Given the description of an element on the screen output the (x, y) to click on. 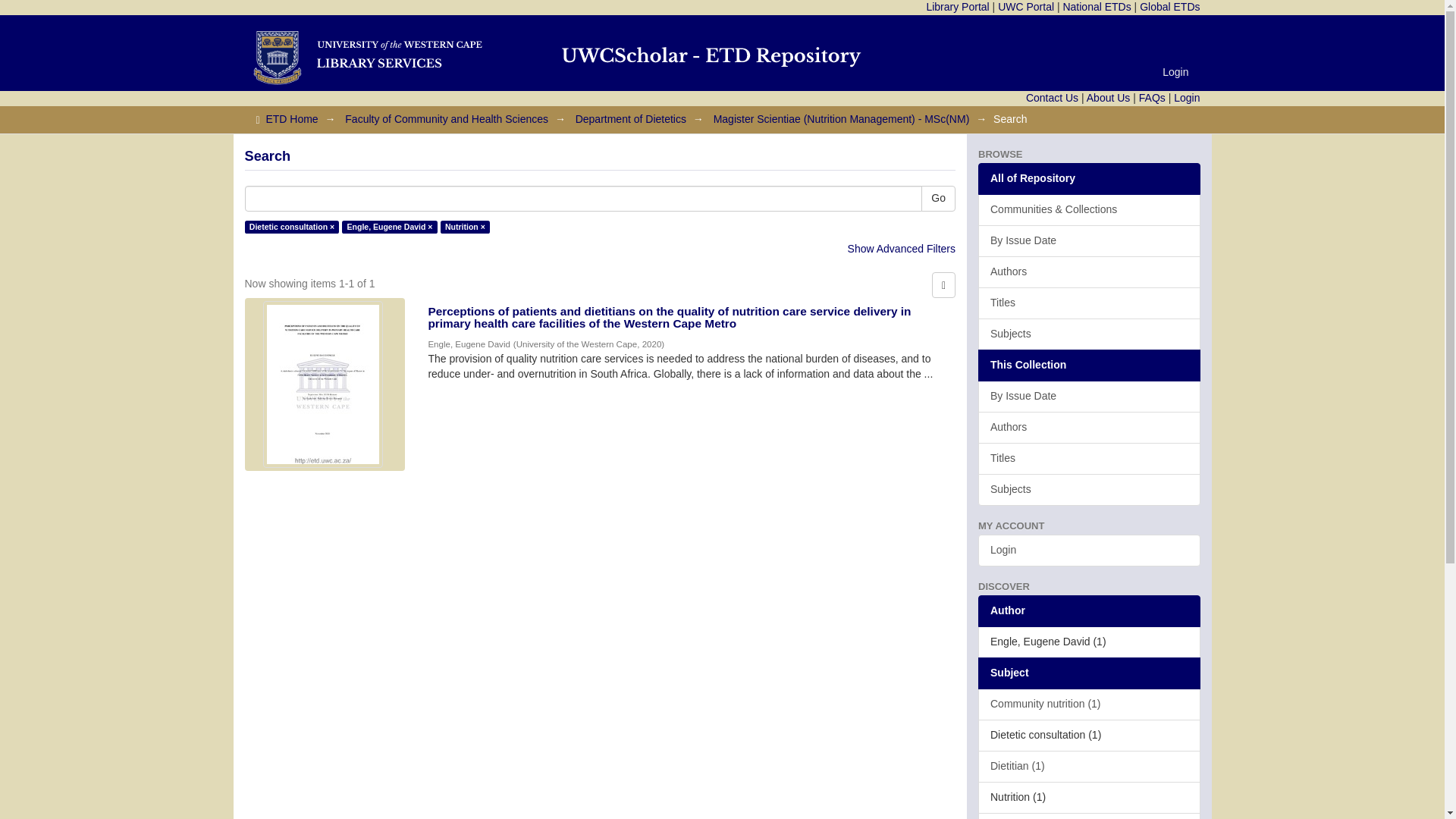
Global ETDs (1169, 6)
Library Portal (957, 6)
Faculty of Community and Health Sciences (446, 119)
Department of Dietetics (630, 119)
Login (1175, 71)
About Us (1108, 97)
Go (938, 198)
Show Advanced Filters (901, 248)
National ETDs (1096, 6)
UWC Portal (1025, 6)
